Given the description of an element on the screen output the (x, y) to click on. 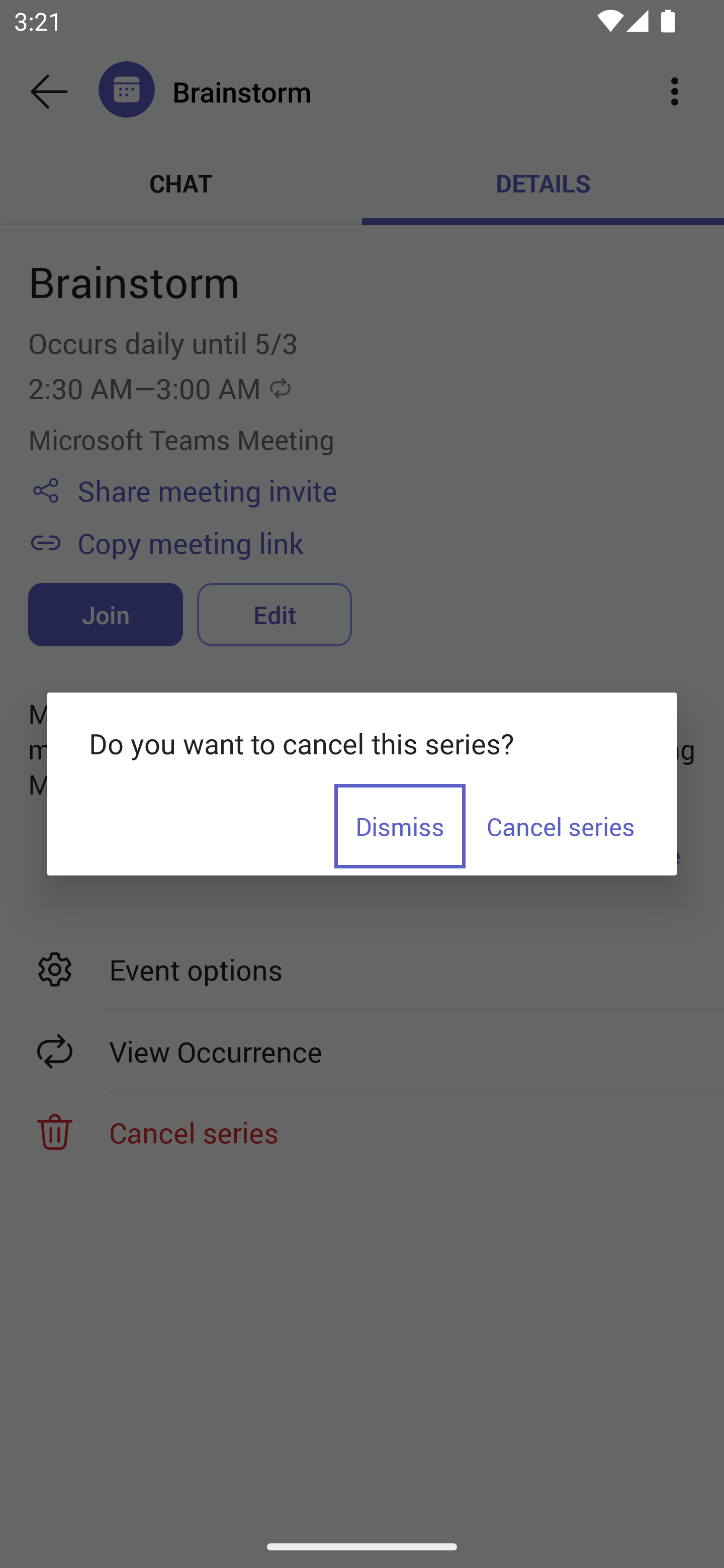
Dismiss (399, 826)
Cancel series (560, 826)
